Given the description of an element on the screen output the (x, y) to click on. 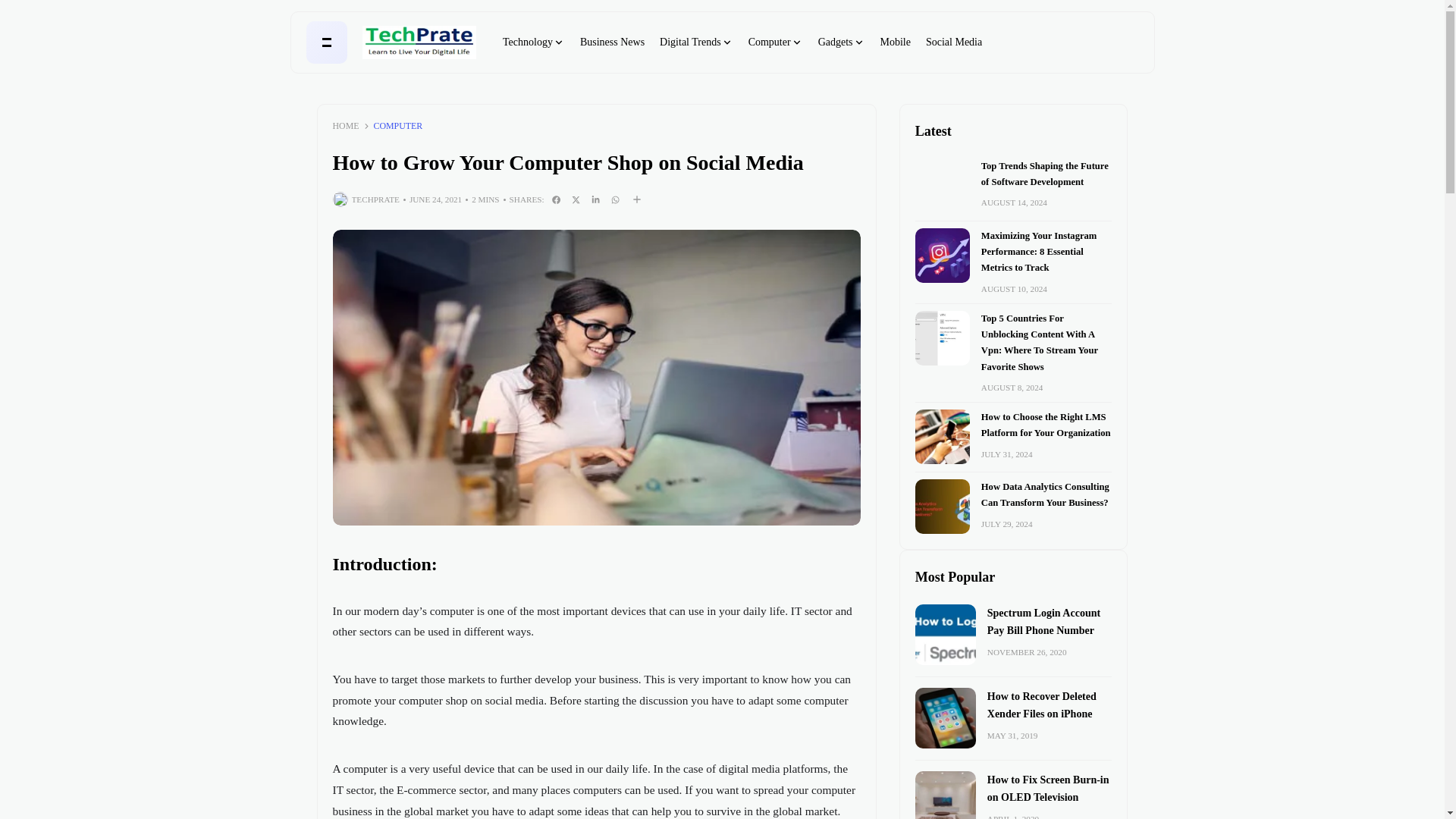
Business News (612, 42)
Technology (533, 42)
Computer (775, 42)
Social Media (953, 42)
TechPrate (419, 42)
Posts by TechPrate (375, 199)
Digital Trends (696, 42)
